Given the description of an element on the screen output the (x, y) to click on. 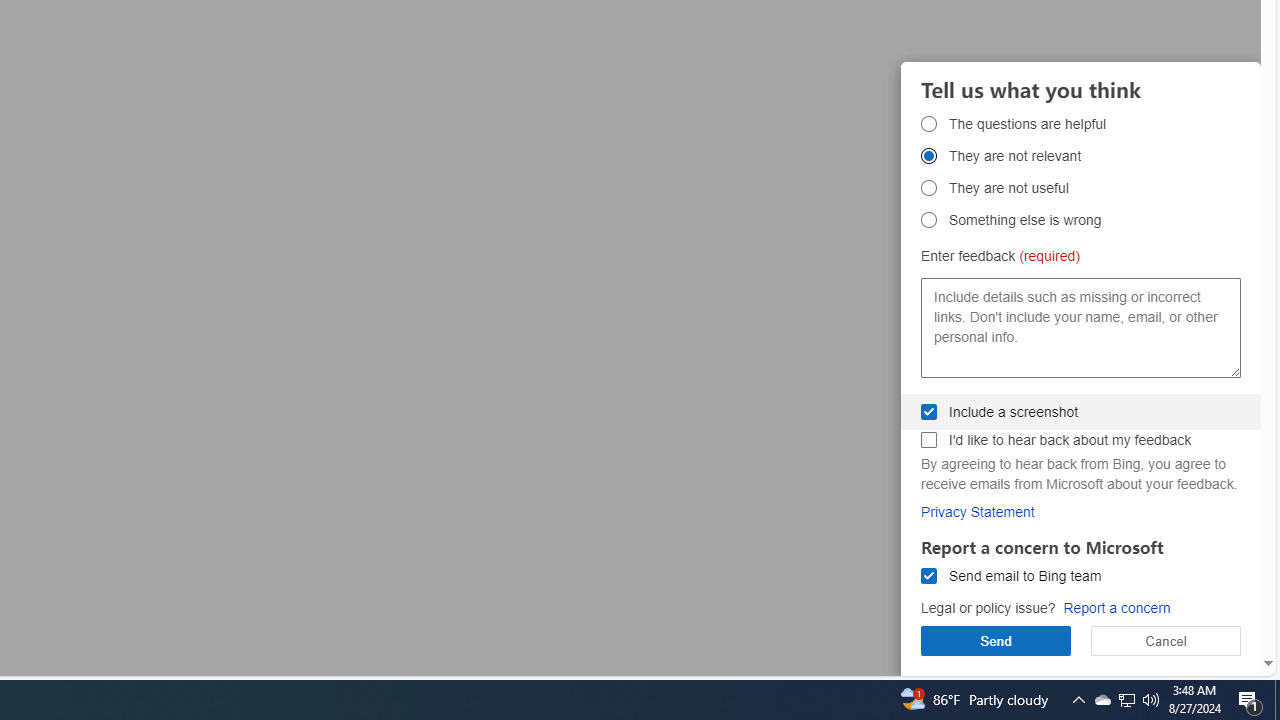
Something else is wrong Something else is wrong (928, 219)
Report a concern (1116, 607)
AutomationID: fbpgdgnothelp (928, 187)
AutomationID: fbpgdgsschk (928, 411)
